Given the description of an element on the screen output the (x, y) to click on. 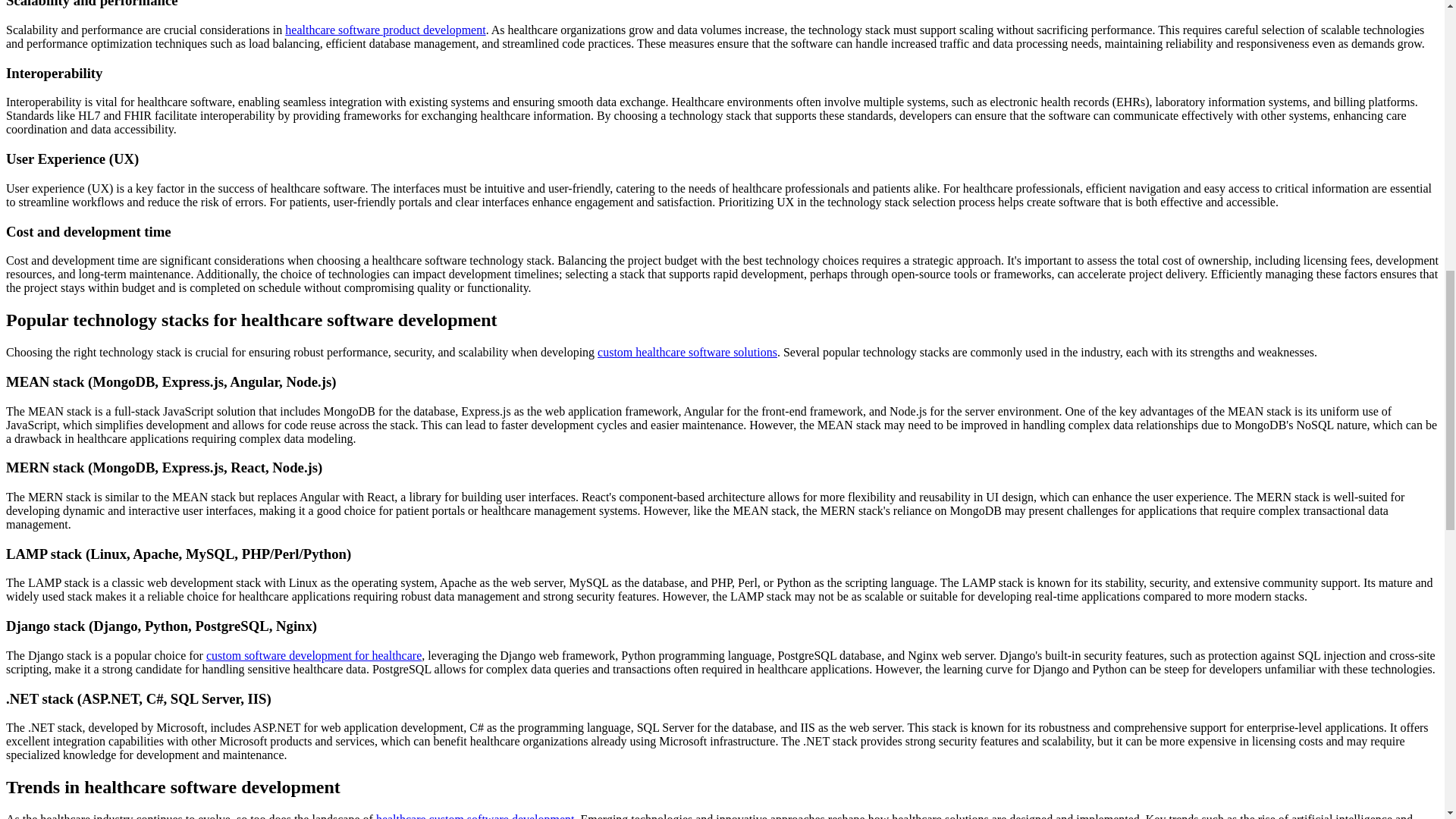
healthcare software product development (384, 29)
healthcare custom software development (475, 816)
custom healthcare software solutions (686, 351)
custom software development for healthcare (314, 655)
